Given the description of an element on the screen output the (x, y) to click on. 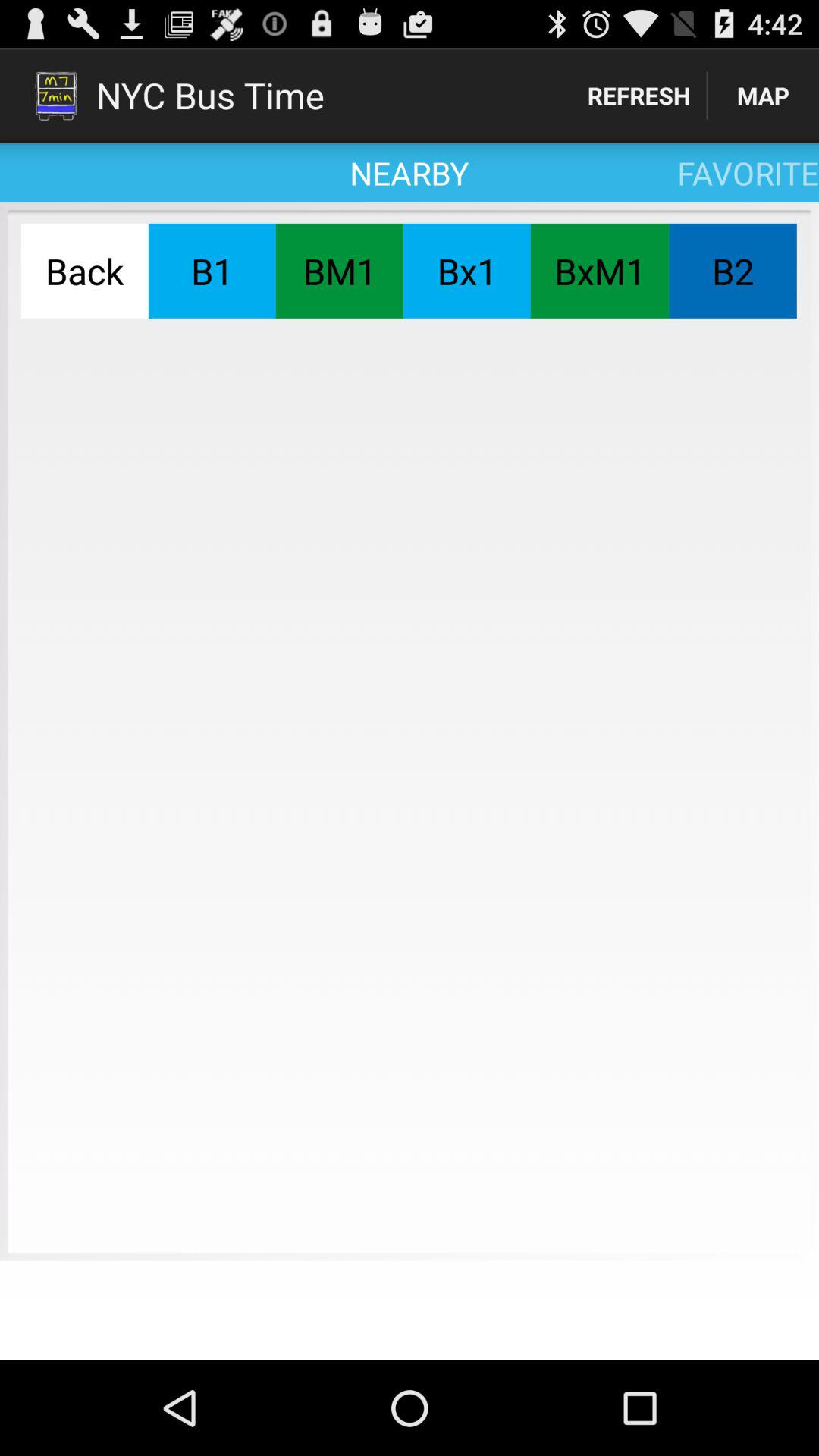
tap the button to the left of the bm1 (211, 271)
